Given the description of an element on the screen output the (x, y) to click on. 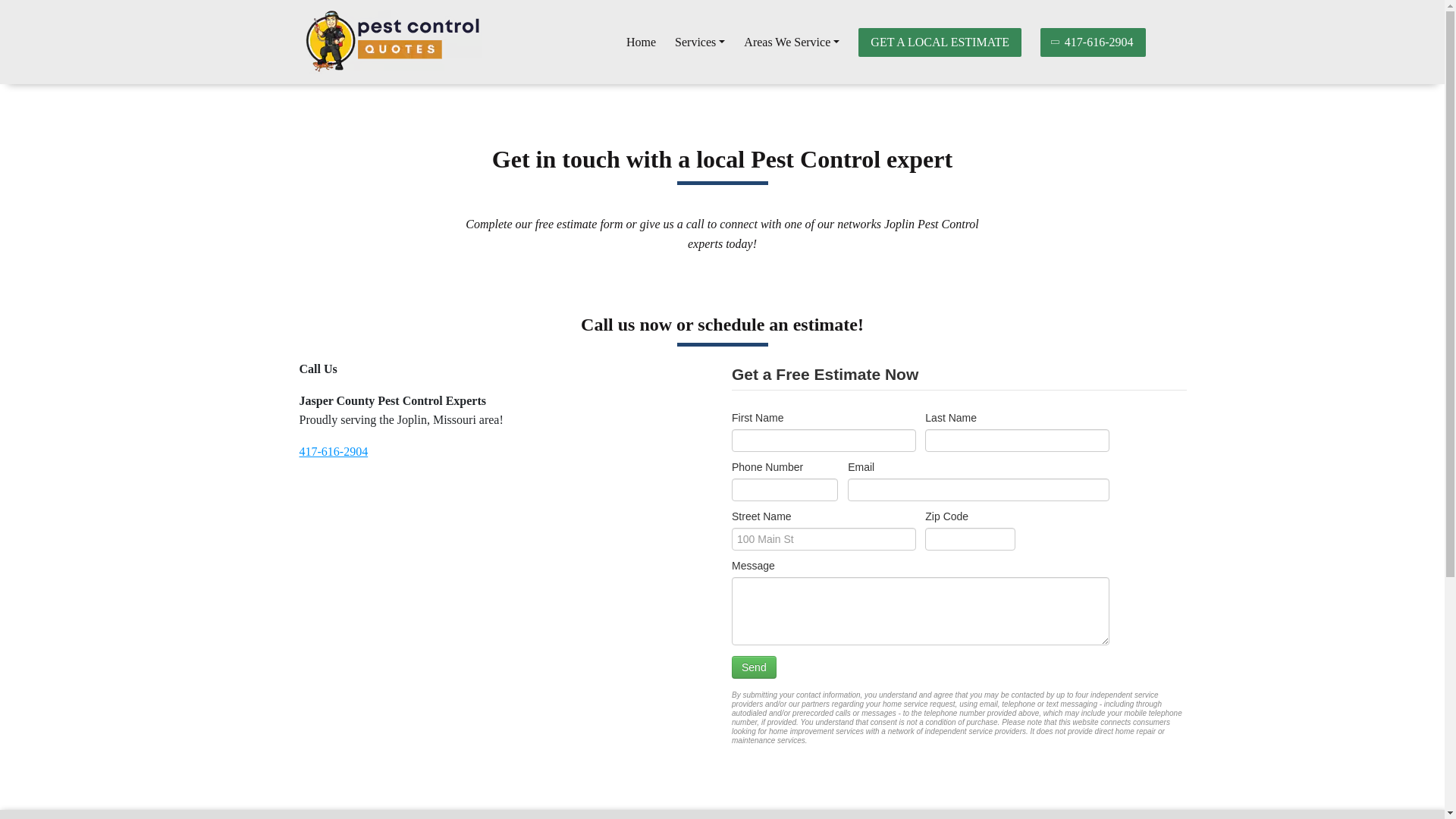
Services (700, 42)
417-616-2904 (1093, 41)
Services (700, 42)
Areas We Service (792, 42)
Home (641, 42)
GET A LOCAL ESTIMATE (940, 41)
417-616-2904 (333, 451)
Areas We Service (792, 42)
Home (641, 42)
